Given the description of an element on the screen output the (x, y) to click on. 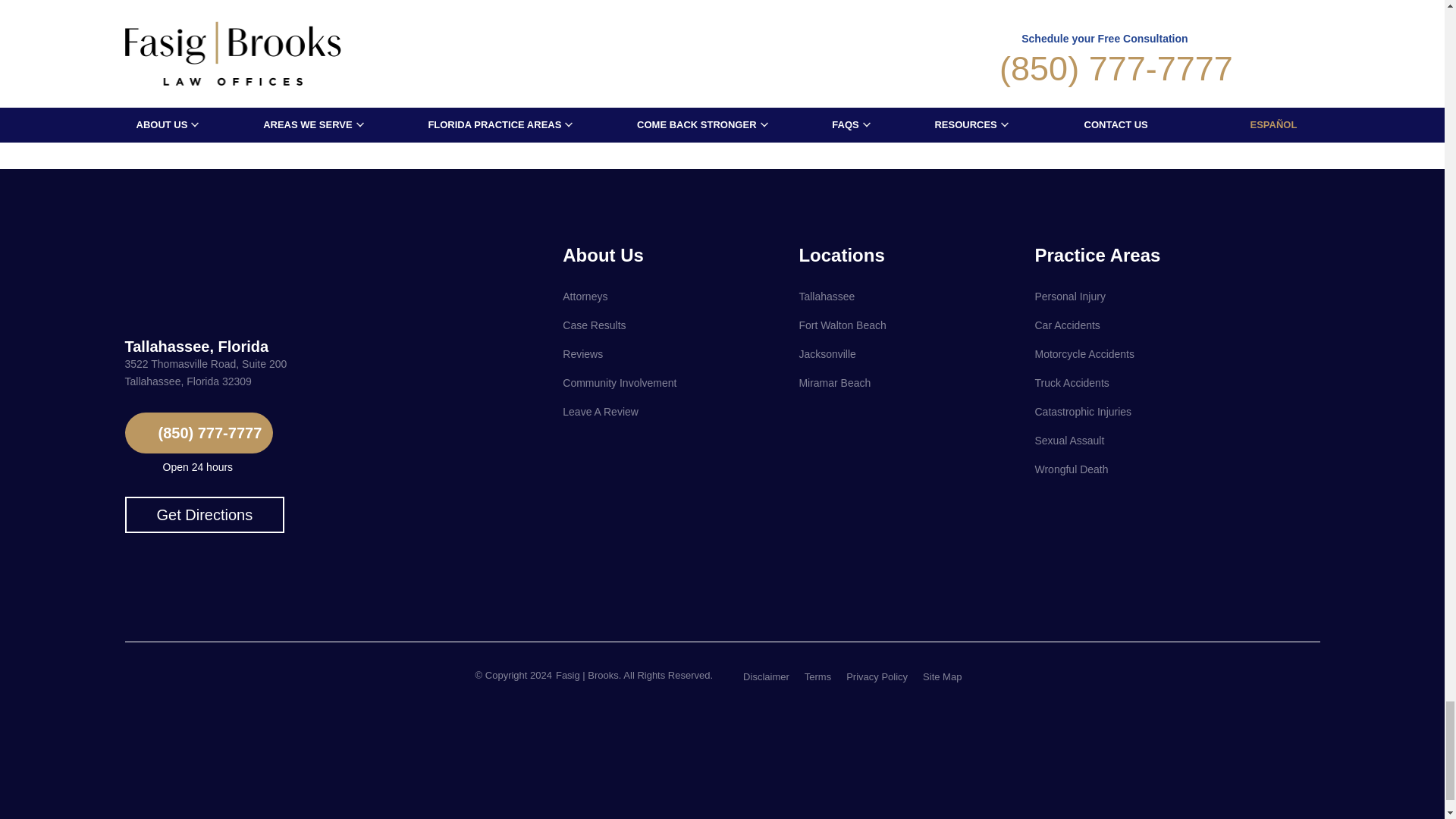
SEND MESSAGE (413, 75)
